Given the description of an element on the screen output the (x, y) to click on. 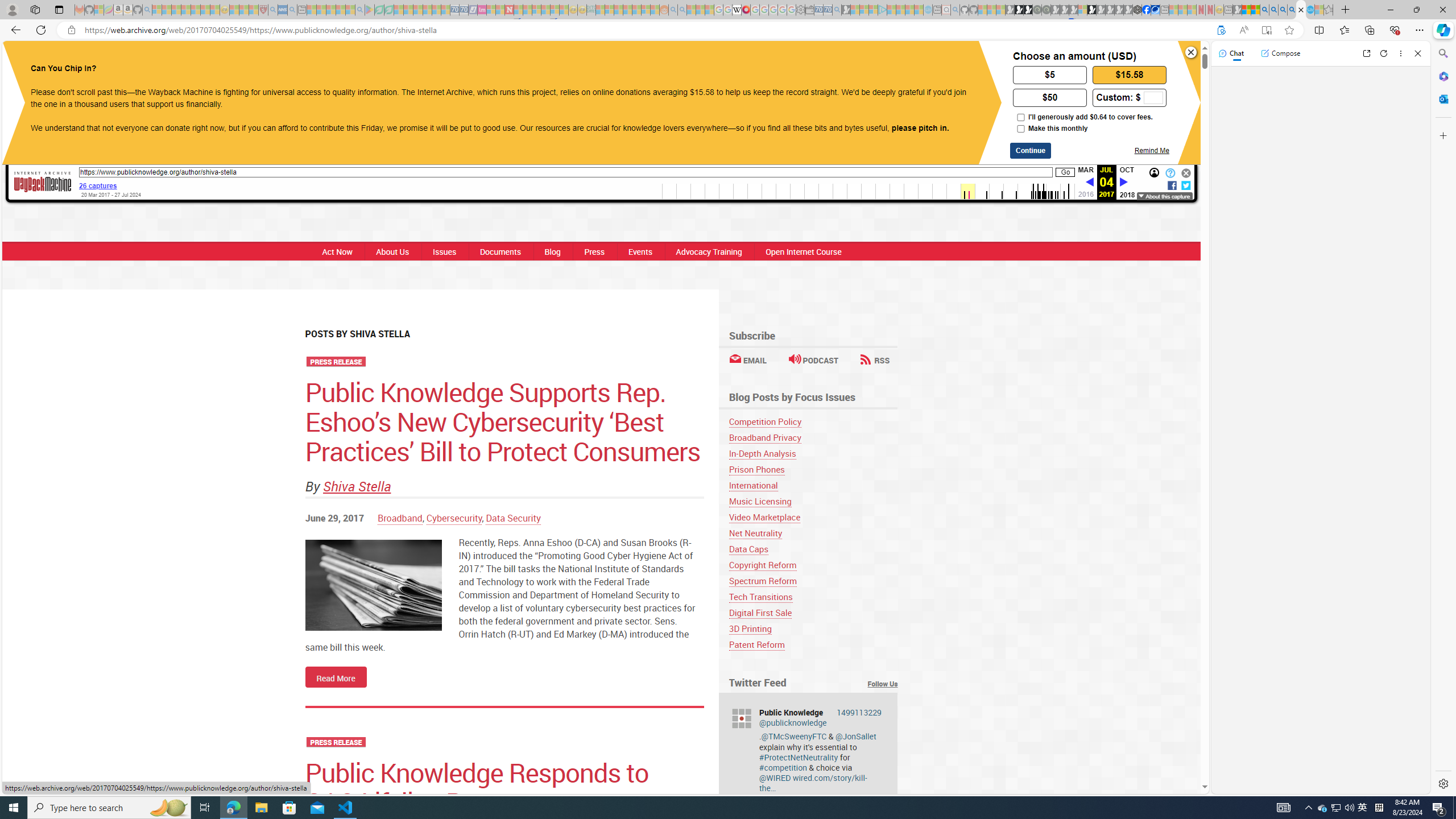
ACT NOW (783, 60)
Play Zoo Boom in your browser | Games from Microsoft Start (1018, 9)
3D Printing (749, 628)
Go (1065, 172)
f (1171, 184)
In-Depth Analysis (813, 453)
